Given the description of an element on the screen output the (x, y) to click on. 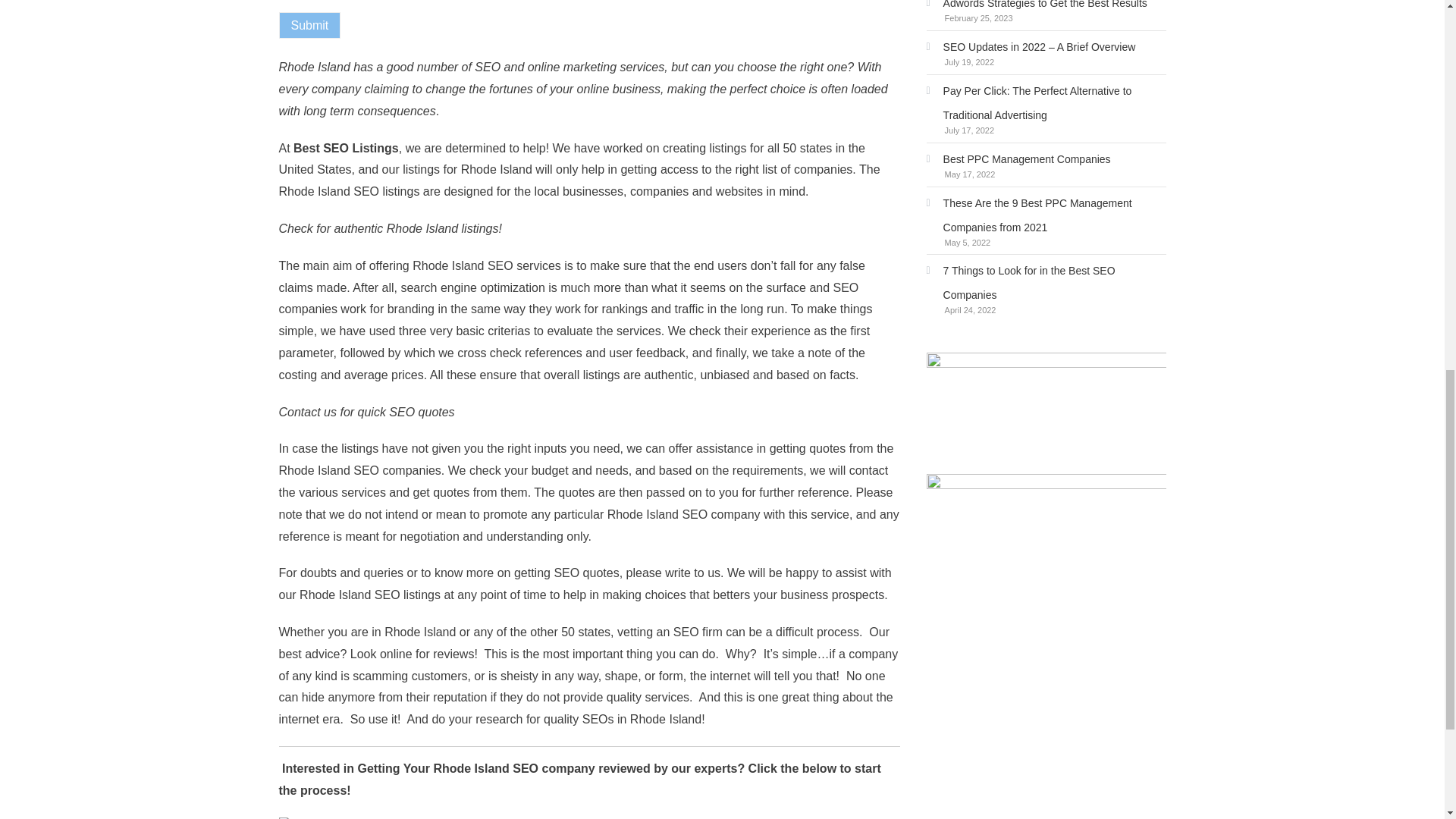
BannerBestSeoListing3 (1046, 413)
Adwords Strategies to Get the Best Results (1036, 7)
These Are the 9 Best PPC Management Companies from 2021 (1046, 214)
Best PPC Management Companies (1018, 159)
7 Things to Look for in the Best SEO Companies (1046, 282)
getlisted (309, 818)
Submit (309, 25)
BannerBestSeoListing2 (1046, 534)
